Given the description of an element on the screen output the (x, y) to click on. 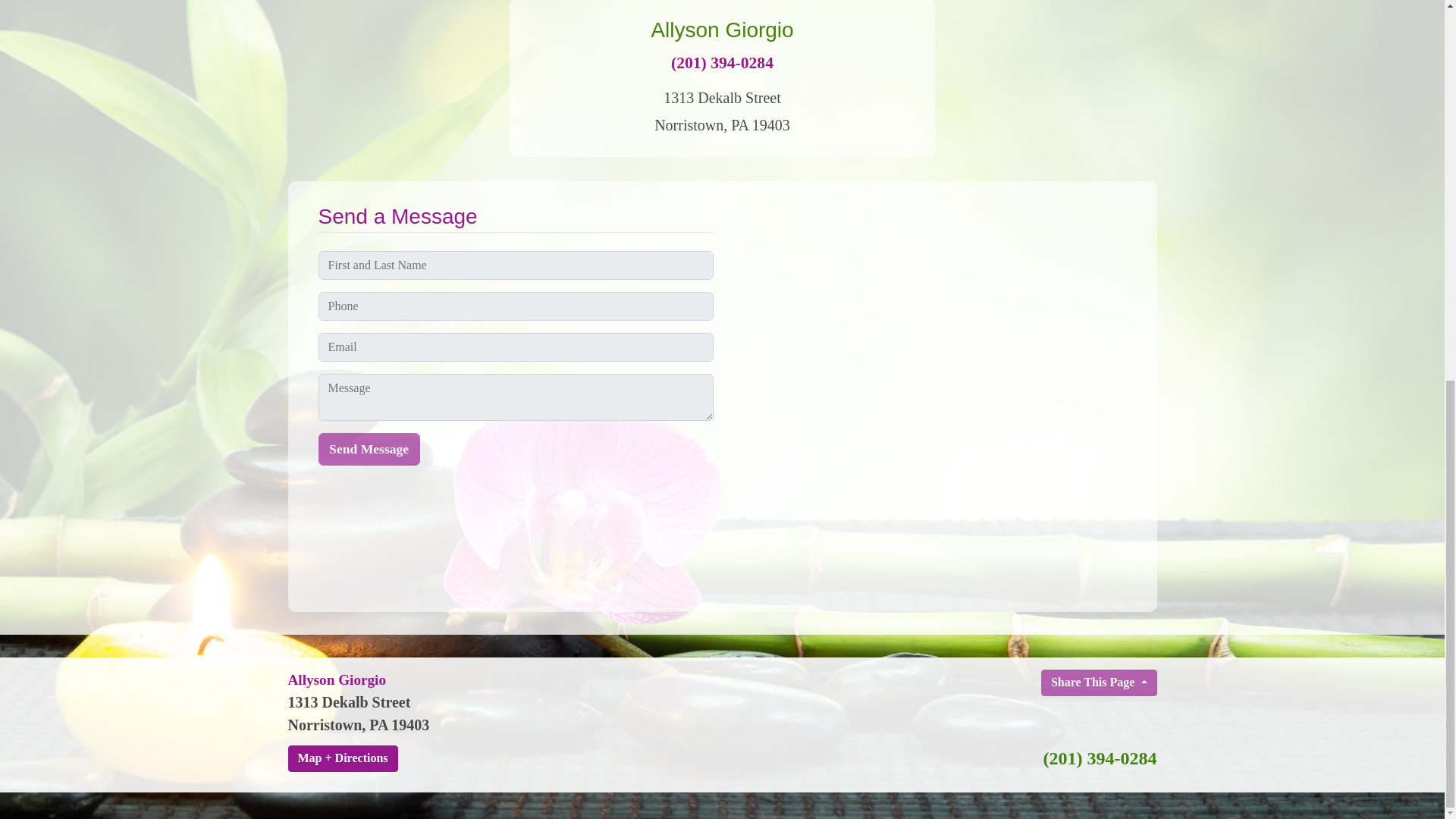
Send Message (369, 449)
Share This Page (1099, 682)
